Given the description of an element on the screen output the (x, y) to click on. 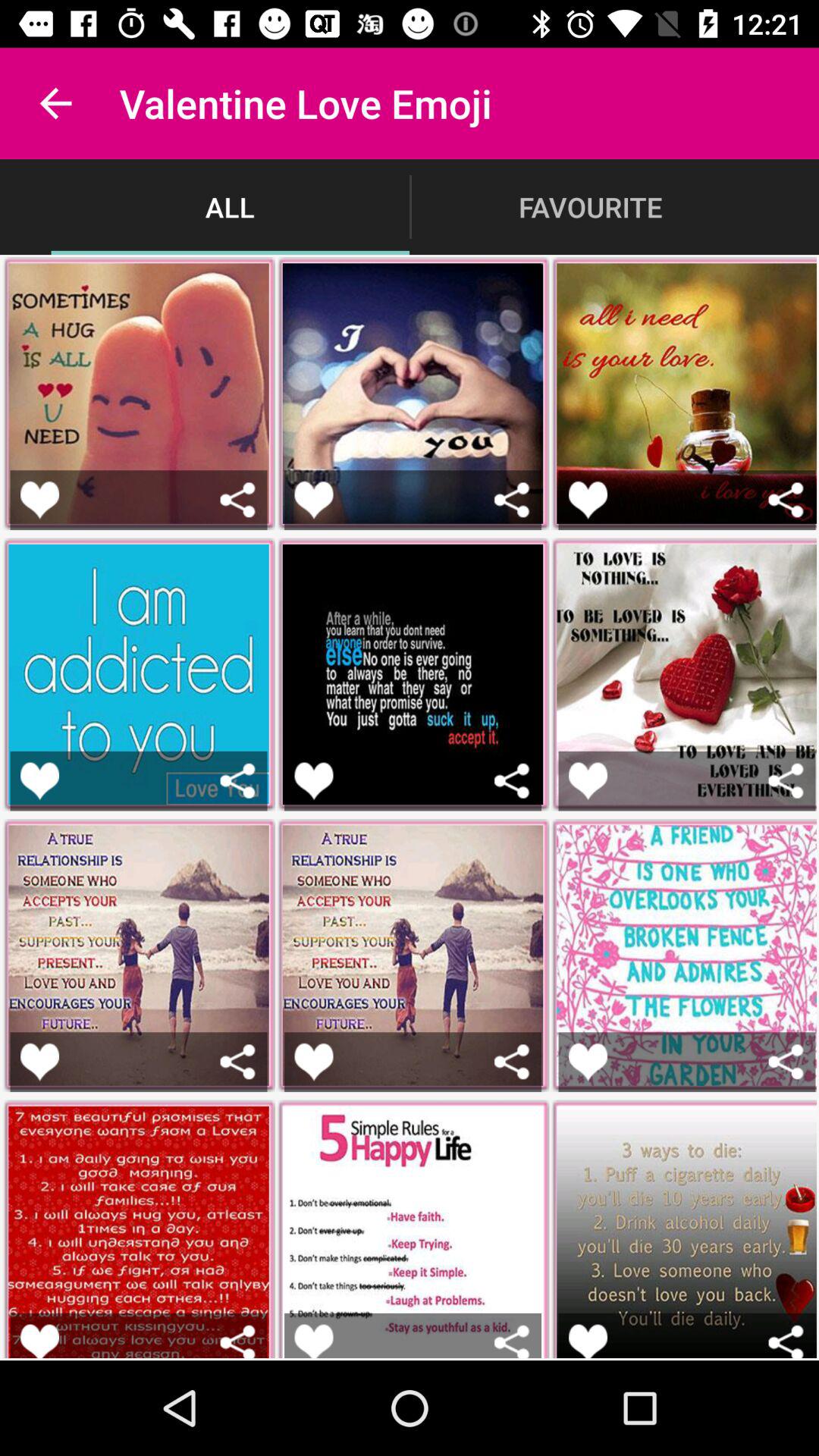
share image (511, 1340)
